Given the description of an element on the screen output the (x, y) to click on. 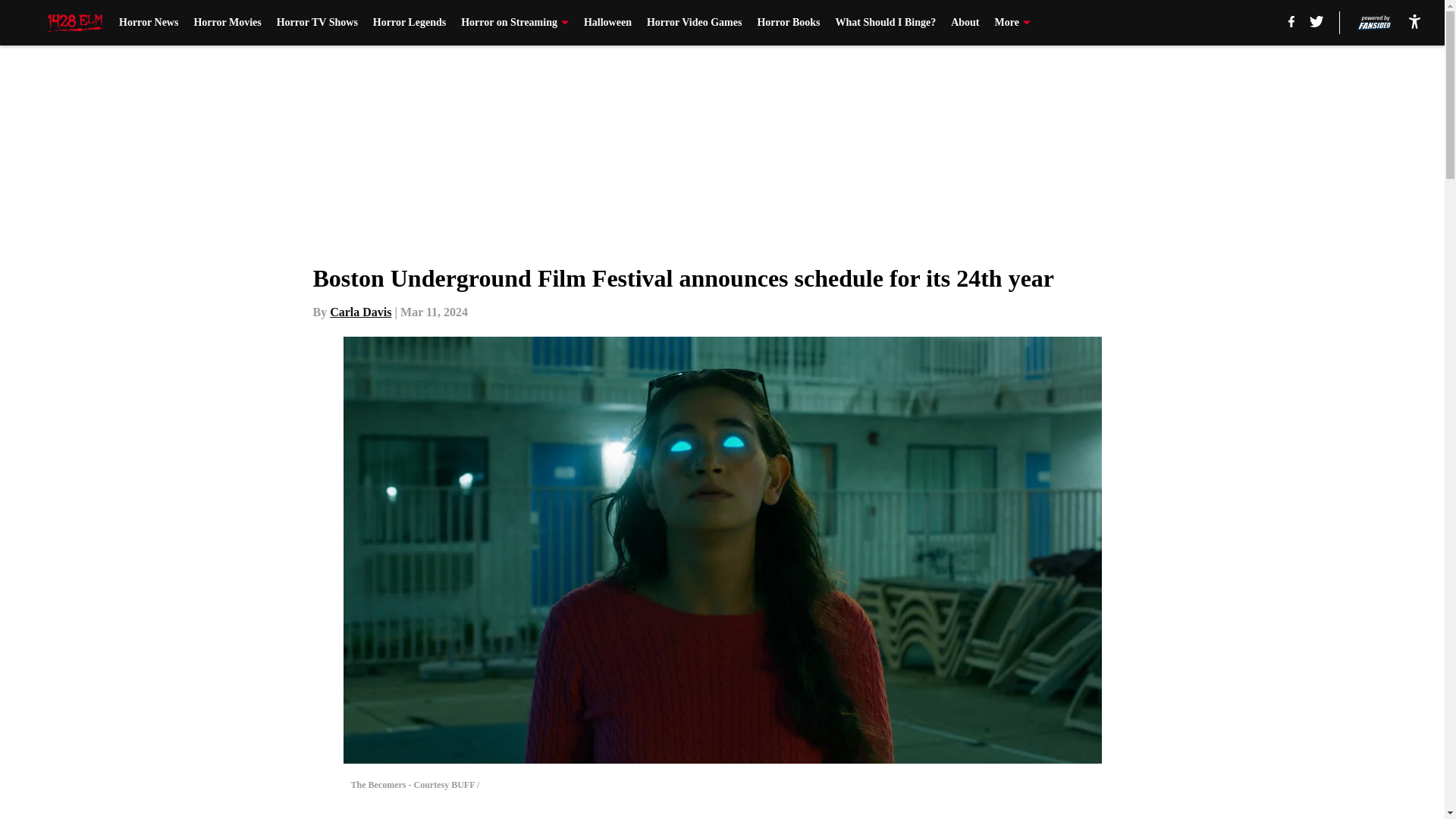
Horror News (148, 22)
Horror Legends (408, 22)
Horror TV Shows (317, 22)
About (964, 22)
Carla Davis (360, 311)
Horror Books (788, 22)
Horror Movies (226, 22)
What Should I Binge? (885, 22)
More (1012, 22)
